Given the description of an element on the screen output the (x, y) to click on. 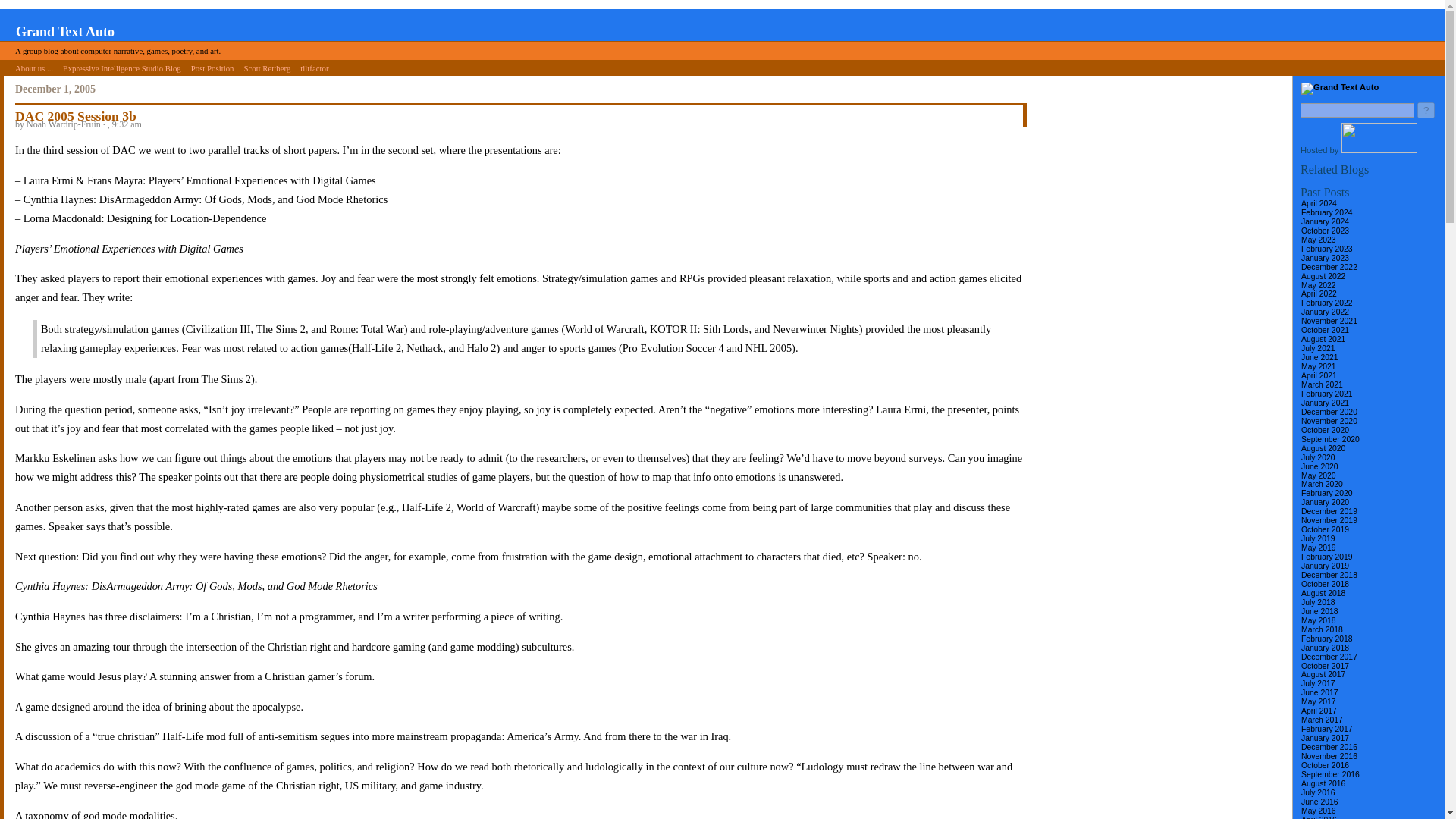
Expressive Intelligence Studio Blog (121, 67)
? (1425, 109)
January 2024 (1324, 221)
February 2023 (1327, 248)
November 2020 (1329, 420)
April 2024 (1319, 203)
February 2022 (1327, 302)
October 2023 (1324, 230)
May 2020 (1318, 475)
May 2022 (1318, 285)
